Given the description of an element on the screen output the (x, y) to click on. 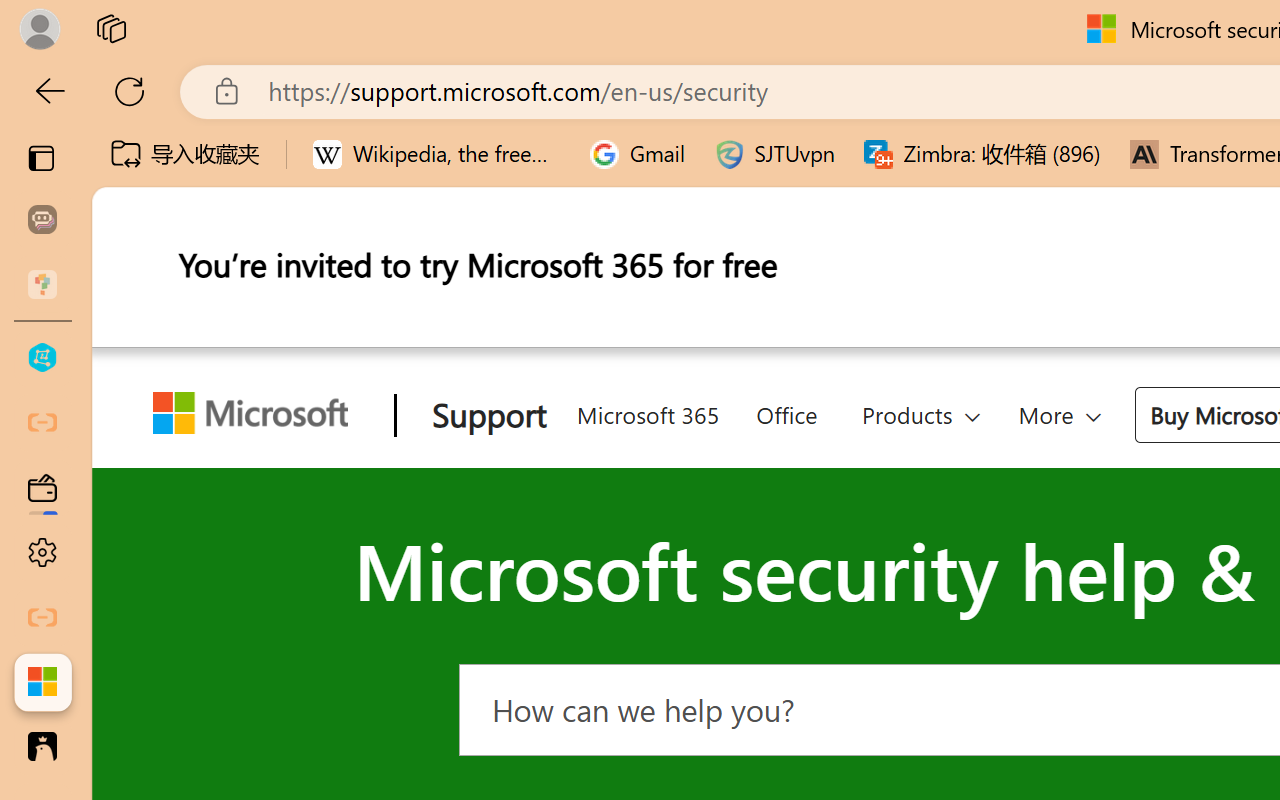
Office (785, 411)
Support (484, 416)
Microsoft 365 (646, 411)
Wikipedia, the free encyclopedia (437, 154)
Microsoft (257, 416)
SJTUvpn (774, 154)
